Given the description of an element on the screen output the (x, y) to click on. 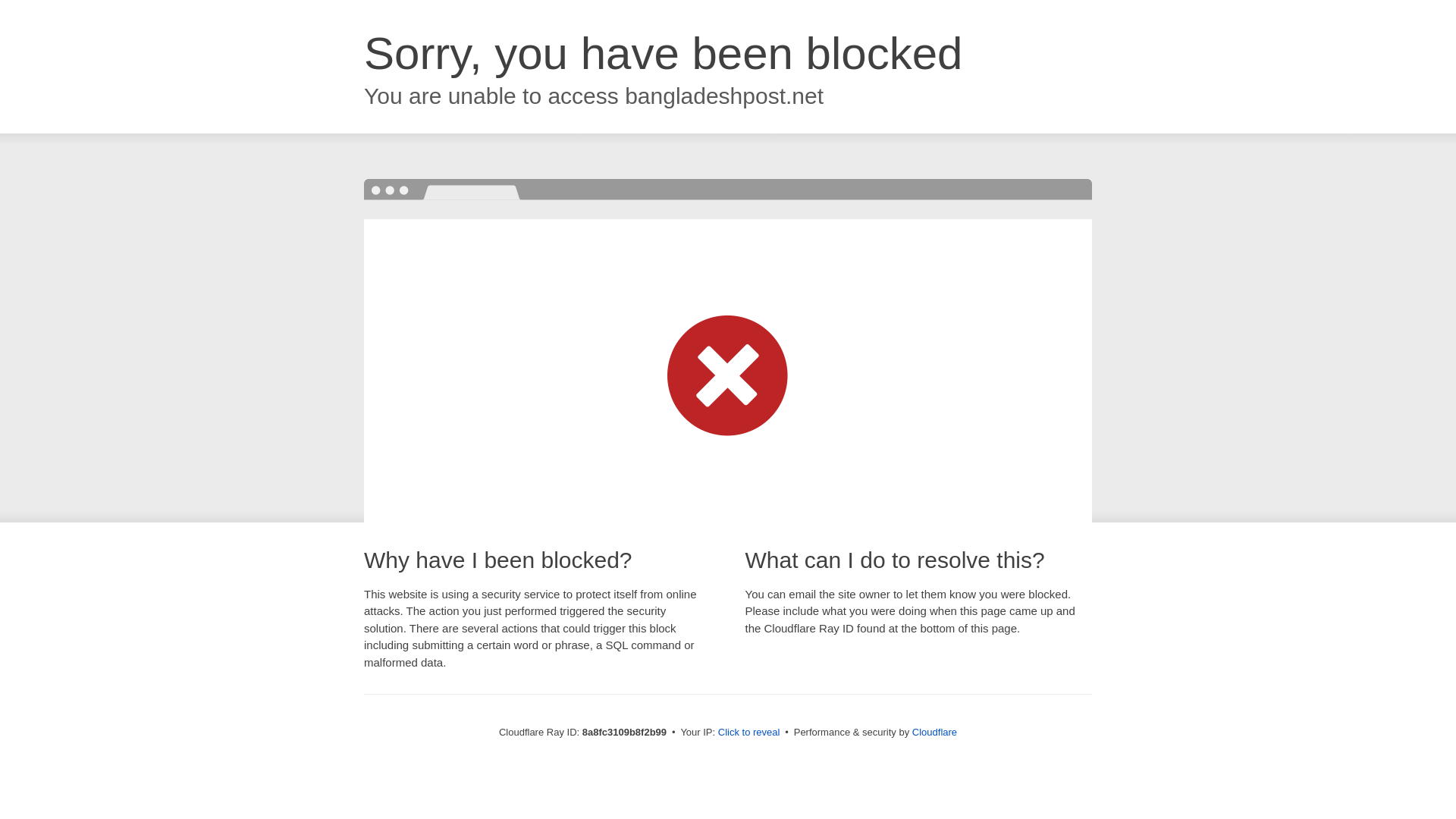
Cloudflare (934, 731)
Click to reveal (748, 732)
